Given the description of an element on the screen output the (x, y) to click on. 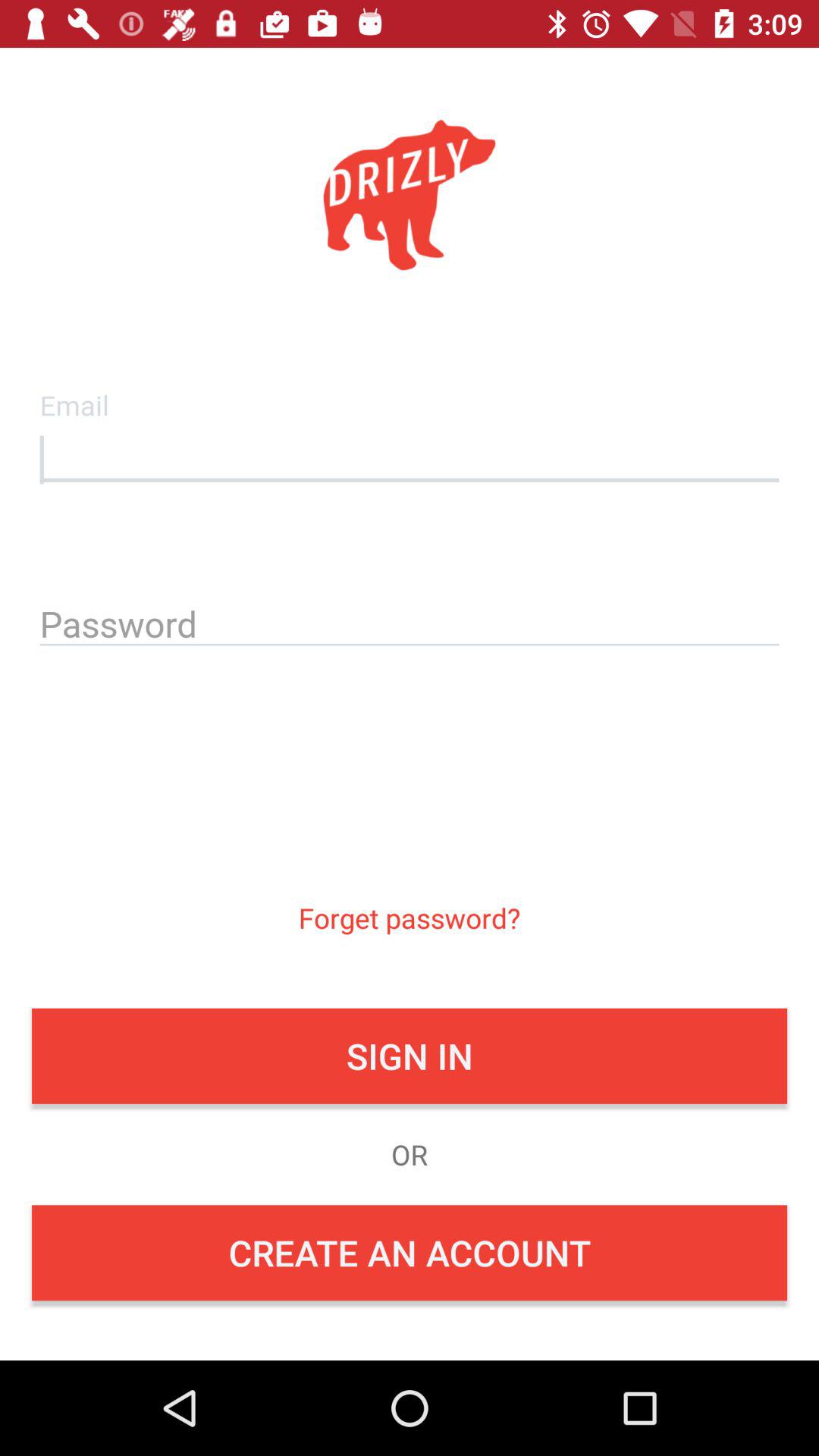
email (409, 455)
